Given the description of an element on the screen output the (x, y) to click on. 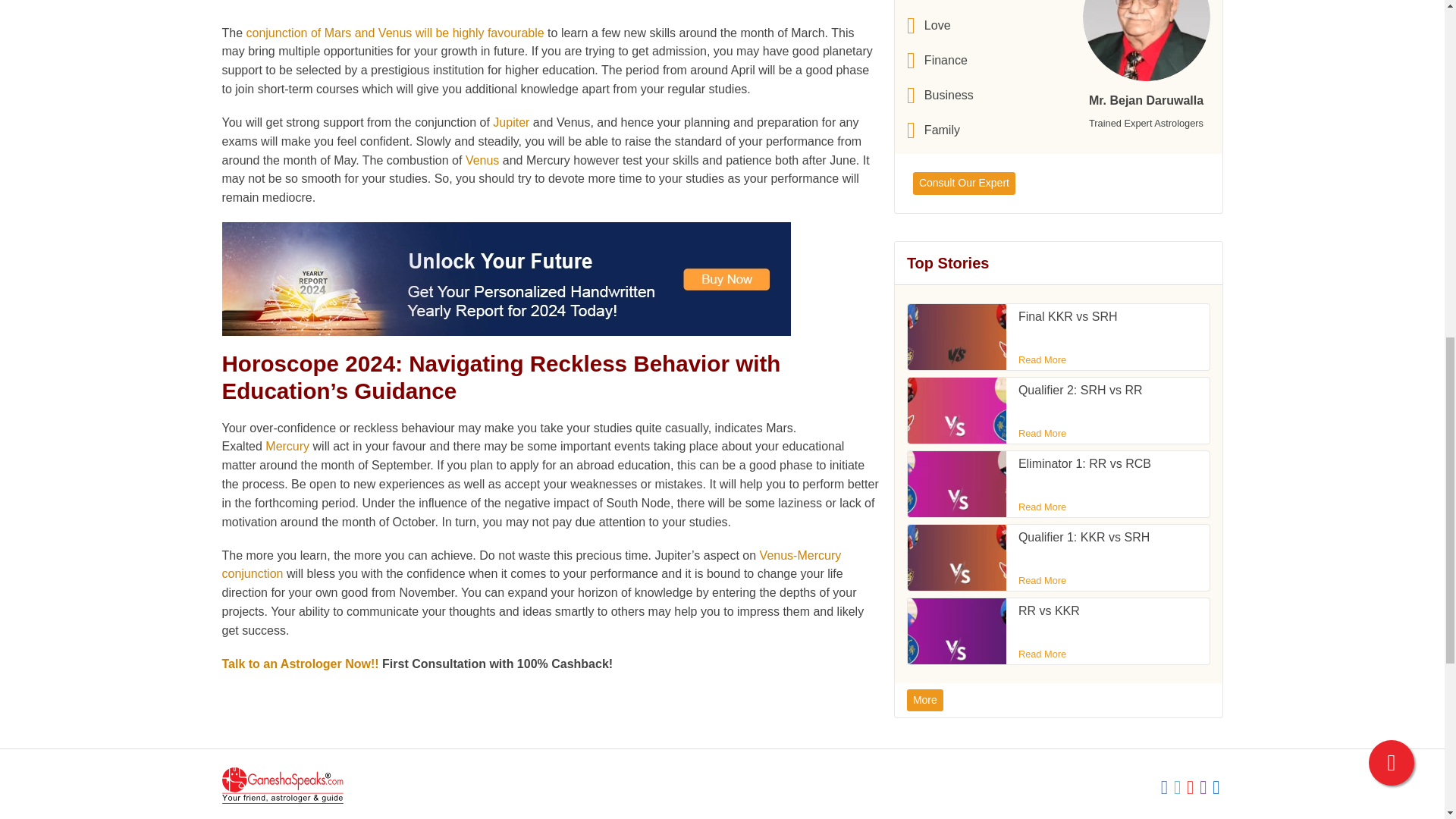
Business (940, 95)
Personalized Handwritten Yearly Report 2024 (505, 278)
Career (940, 1)
Love (940, 25)
Finance (940, 60)
Family (940, 129)
Ganeshaspeaks (281, 785)
